Given the description of an element on the screen output the (x, y) to click on. 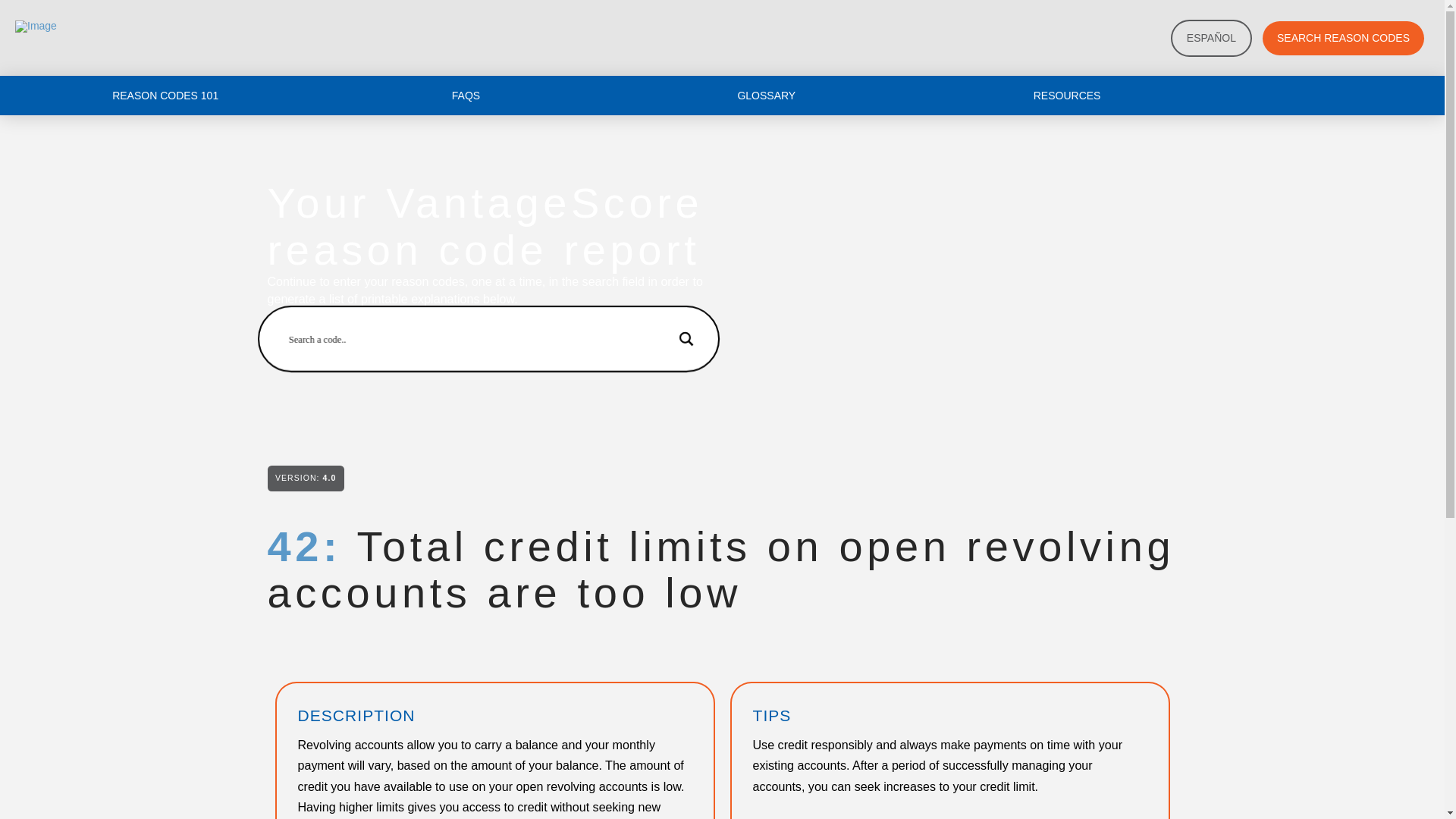
REASON CODES 101 (164, 95)
FAQS (465, 95)
RESOURCES (1067, 95)
SEARCH REASON CODES (1342, 38)
GLOSSARY (766, 95)
